Given the description of an element on the screen output the (x, y) to click on. 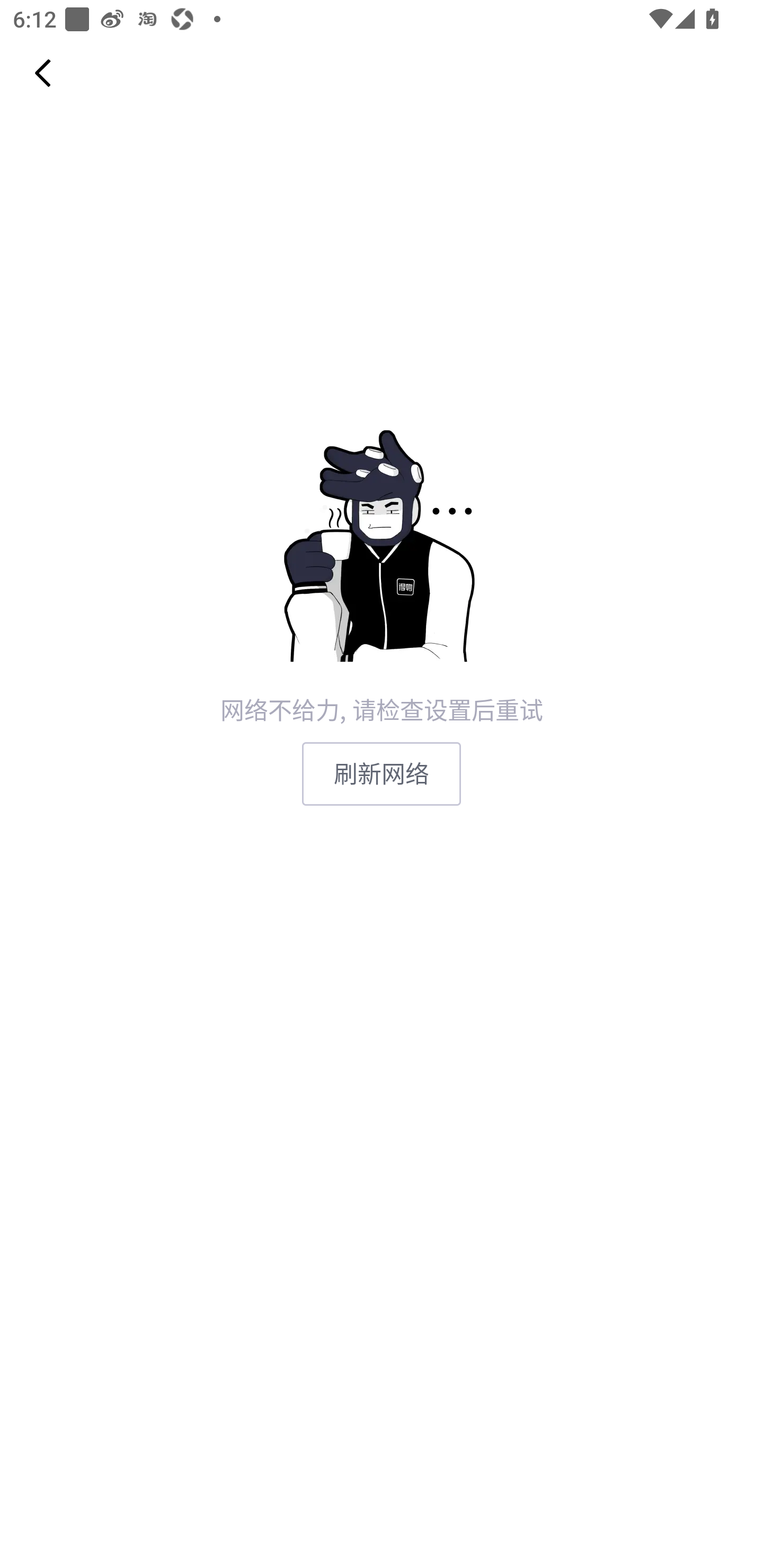
刷新网络 (381, 773)
